Given the description of an element on the screen output the (x, y) to click on. 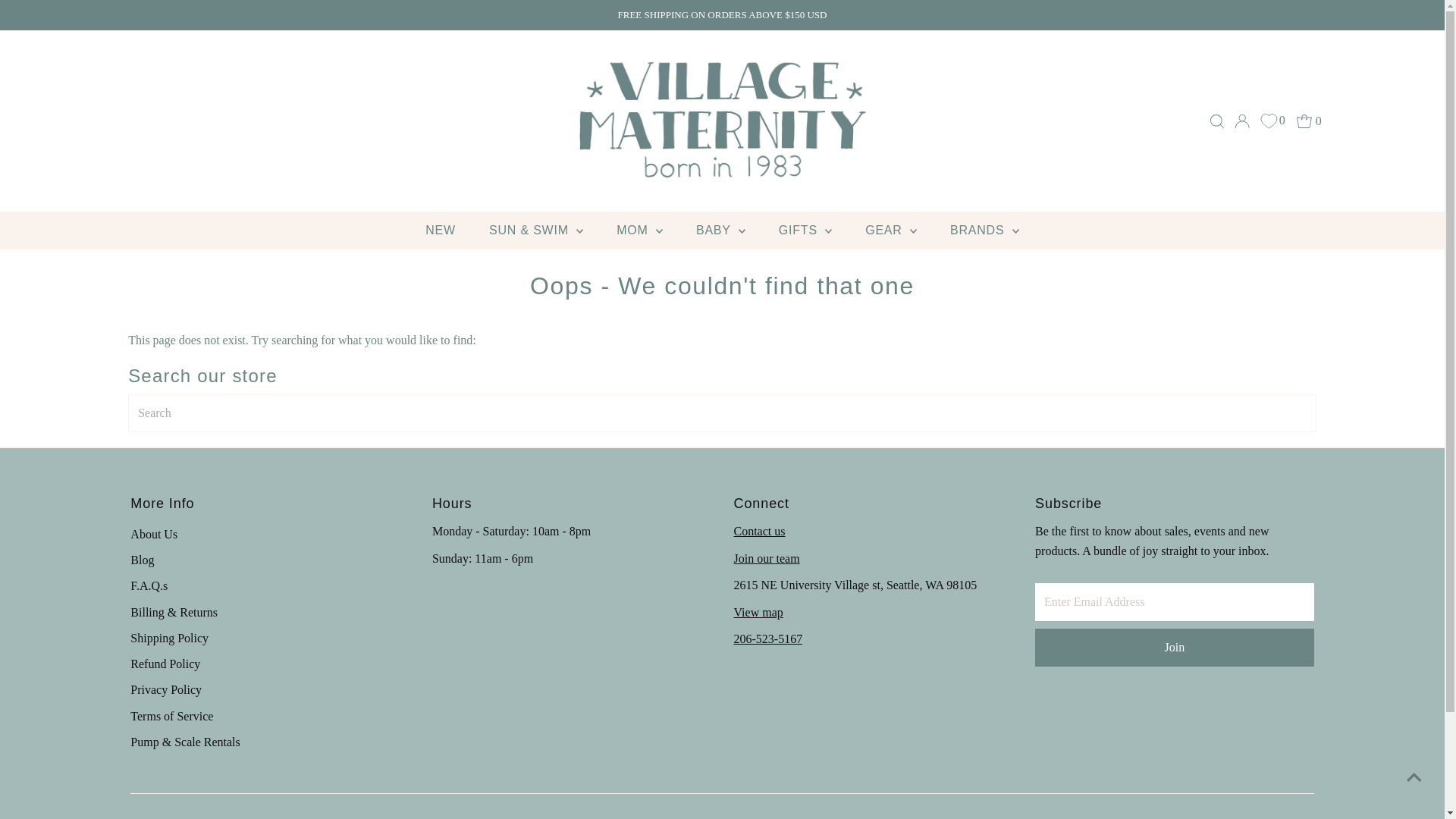
Join Our Team! (766, 558)
Skip to content (51, 18)
0 (1309, 120)
Village Maternity View Map in Google Maps (758, 612)
Contact (759, 530)
0 (1272, 120)
NEW (440, 230)
